Given the description of an element on the screen output the (x, y) to click on. 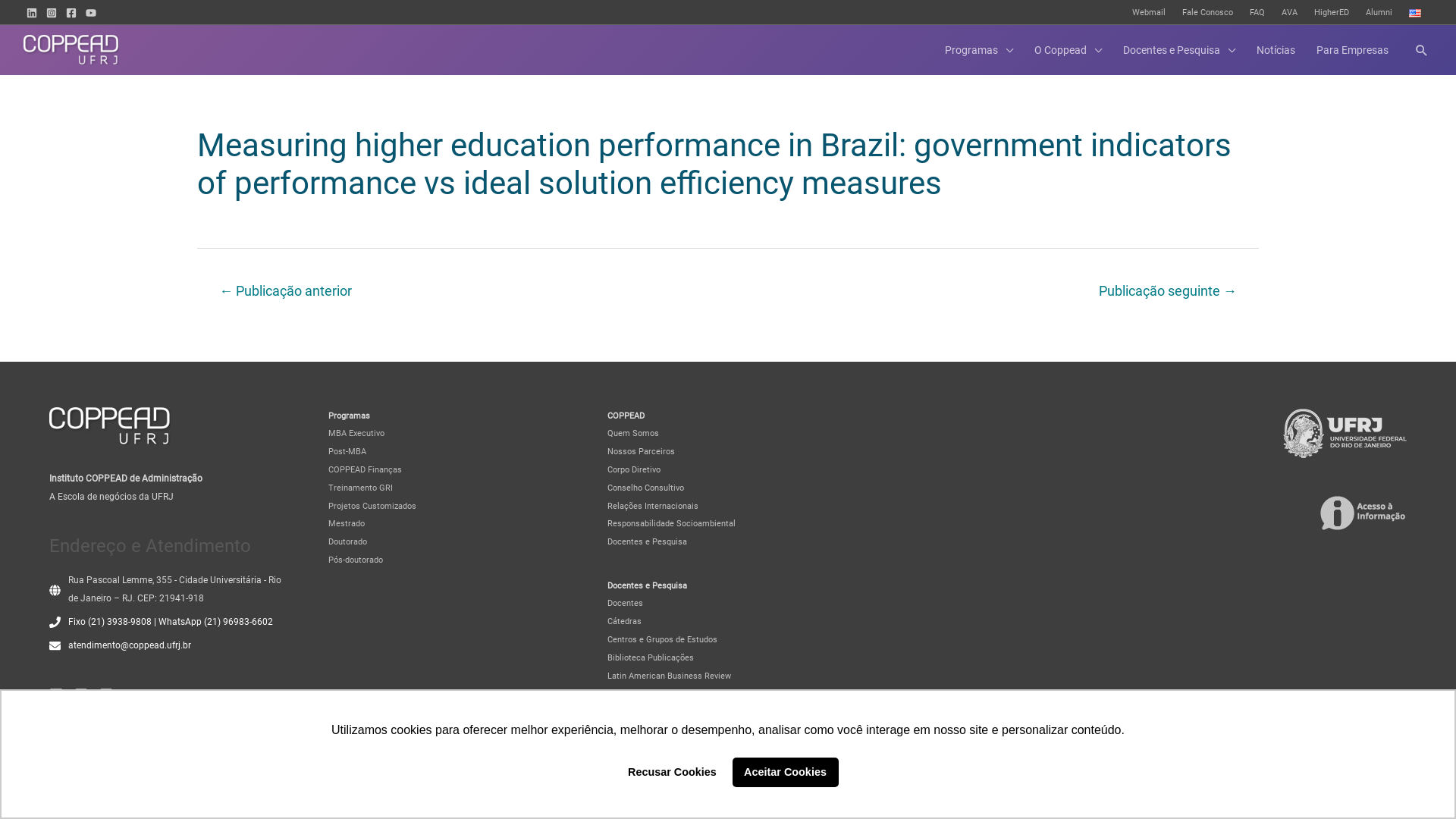
Doutorado Element type: text (347, 541)
Review Element type: text (717, 675)
Post-MBA Element type: text (347, 451)
Alumni Element type: text (1378, 12)
FAQ Element type: text (1257, 12)
atendimento@coppead.ufrj.br Element type: text (129, 645)
Projetos Customizados Element type: text (372, 506)
Recusar Cookies Element type: text (671, 771)
Treinamento GRI Element type: text (360, 487)
Programas Element type: text (978, 49)
Centros e Grupos de Estudos Element type: text (662, 639)
Responsabilidade Element type: text (640, 523)
Docentes Element type: text (625, 603)
Biblioteca Element type: text (626, 657)
Latin American Business Element type: text (654, 675)
Webmail Element type: text (1148, 12)
Fixo (21) 3938-9808 | WhatsApp (21) 96983-6602 Element type: text (170, 621)
Docentes e Pesquisa Element type: text (647, 541)
Quem Somos Element type: text (632, 433)
Para Empresas Element type: text (1352, 49)
Pesquisar Element type: text (1421, 49)
Corpo Diretivo Element type: text (633, 469)
Fale Conosco Element type: text (1207, 12)
MBA Executivo Element type: text (356, 433)
Conselho Consultivo Element type: text (645, 487)
Mestrado Element type: text (346, 523)
Docentes e Pesquisa Element type: text (1178, 49)
O Coppead Element type: text (1067, 49)
AVA Element type: text (1289, 12)
Socioambiental Element type: text (705, 523)
HigherED Element type: text (1331, 12)
Nossos Parceiros Element type: text (640, 451)
Aceitar Cookies Element type: text (785, 771)
